Given the description of an element on the screen output the (x, y) to click on. 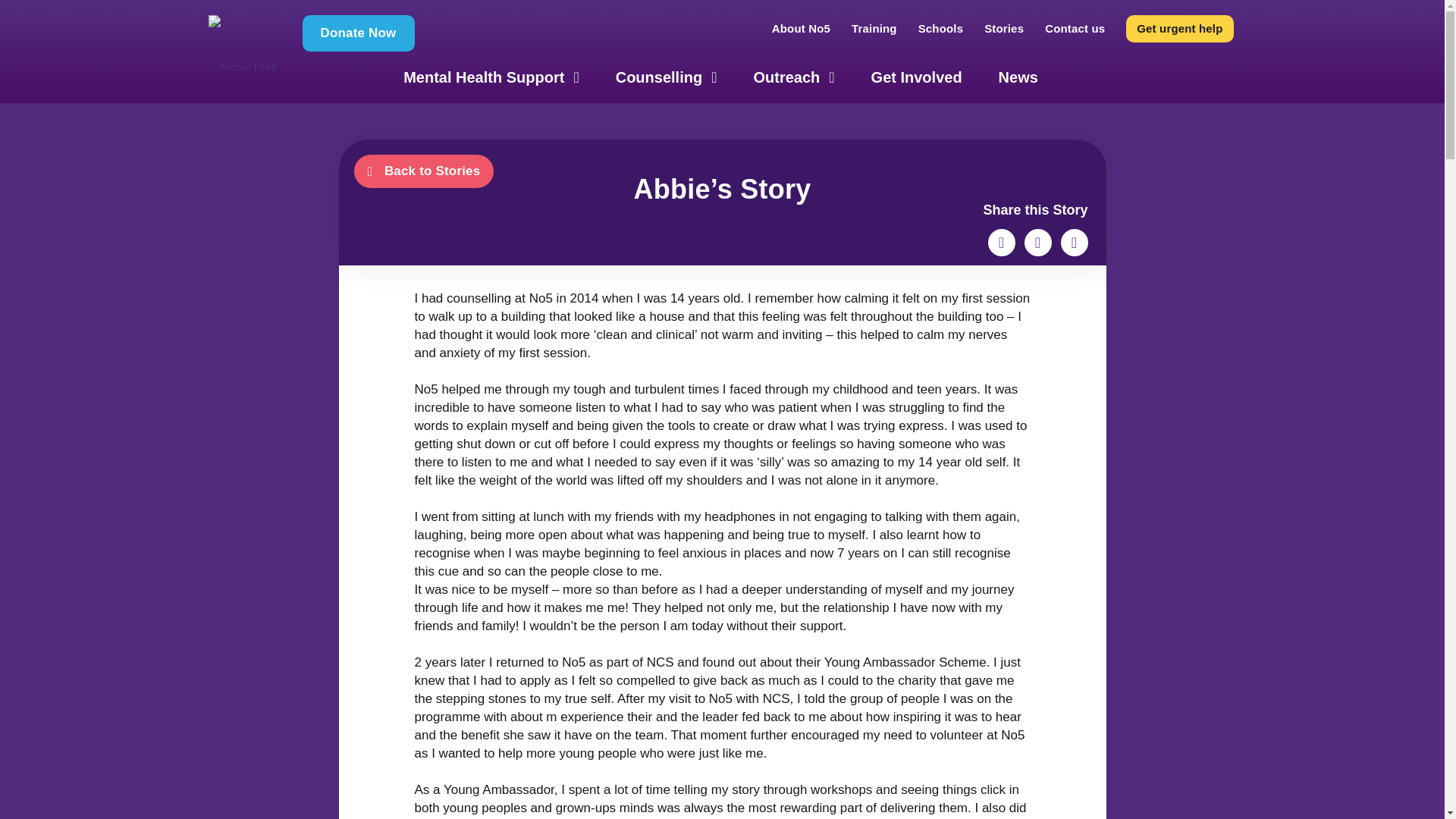
Outreach (793, 77)
Mental Health Support (490, 77)
Schools (940, 28)
Twitter (1000, 242)
About No5 (801, 28)
Training (874, 28)
Contact us (1074, 28)
Donate Now (357, 33)
Facebook (1037, 242)
Mental Health Support (490, 77)
Counselling (665, 77)
Contact us (1074, 28)
Stories (1003, 28)
News (1018, 77)
Back to Stories (423, 171)
